Given the description of an element on the screen output the (x, y) to click on. 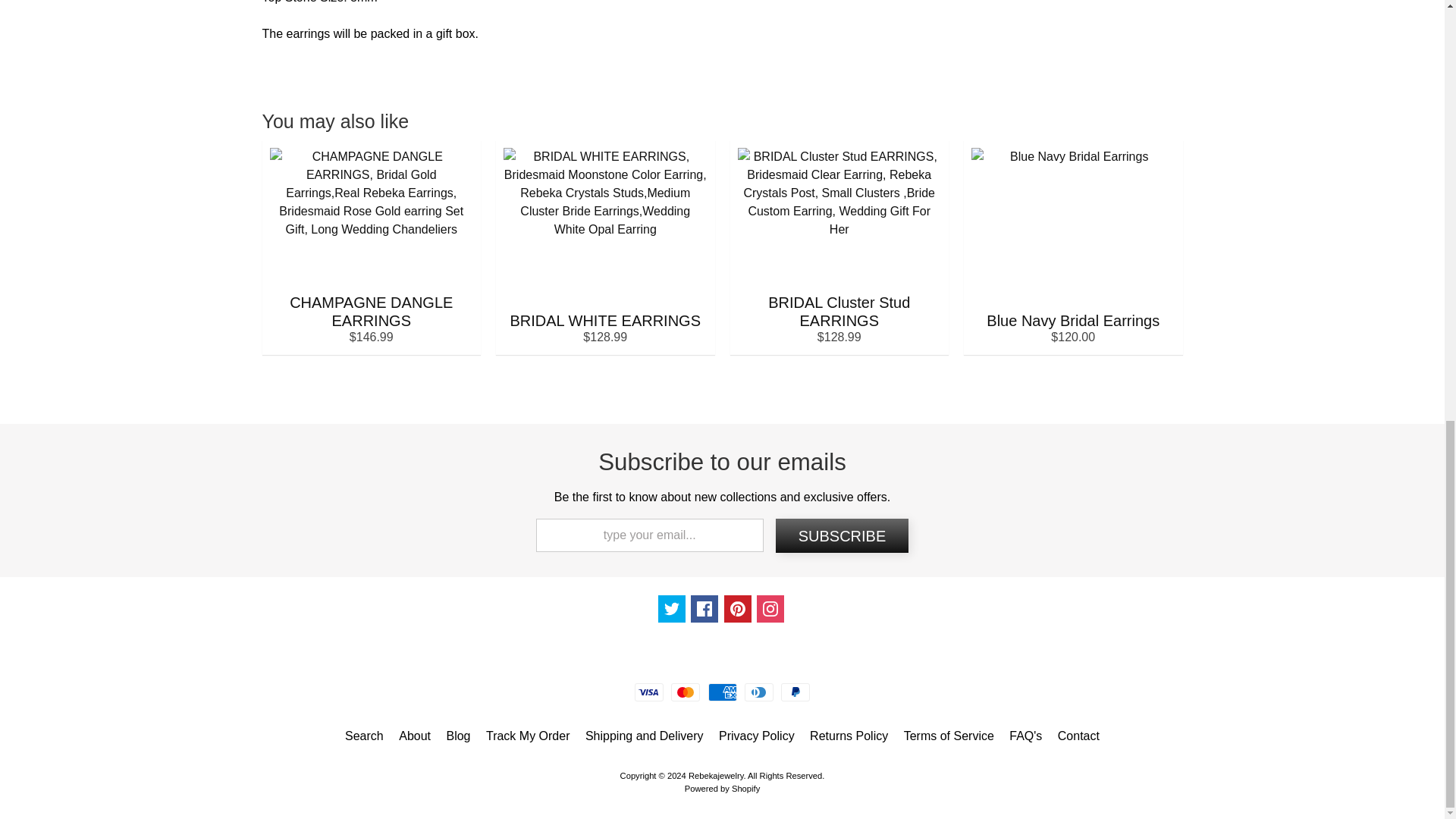
PayPal (794, 692)
Diners Club (758, 692)
Twitter (671, 608)
Facebook (703, 608)
Pinterest (737, 608)
Visa (648, 692)
BRIDAL Cluster Stud EARRINGS (839, 246)
CHAMPAGNE DANGLE EARRINGS (371, 246)
American Express (721, 692)
Mastercard (685, 692)
BRIDAL WHITE EARRINGS (605, 246)
Blue Navy Bridal Earrings (1072, 246)
Instagram (770, 608)
